Given the description of an element on the screen output the (x, y) to click on. 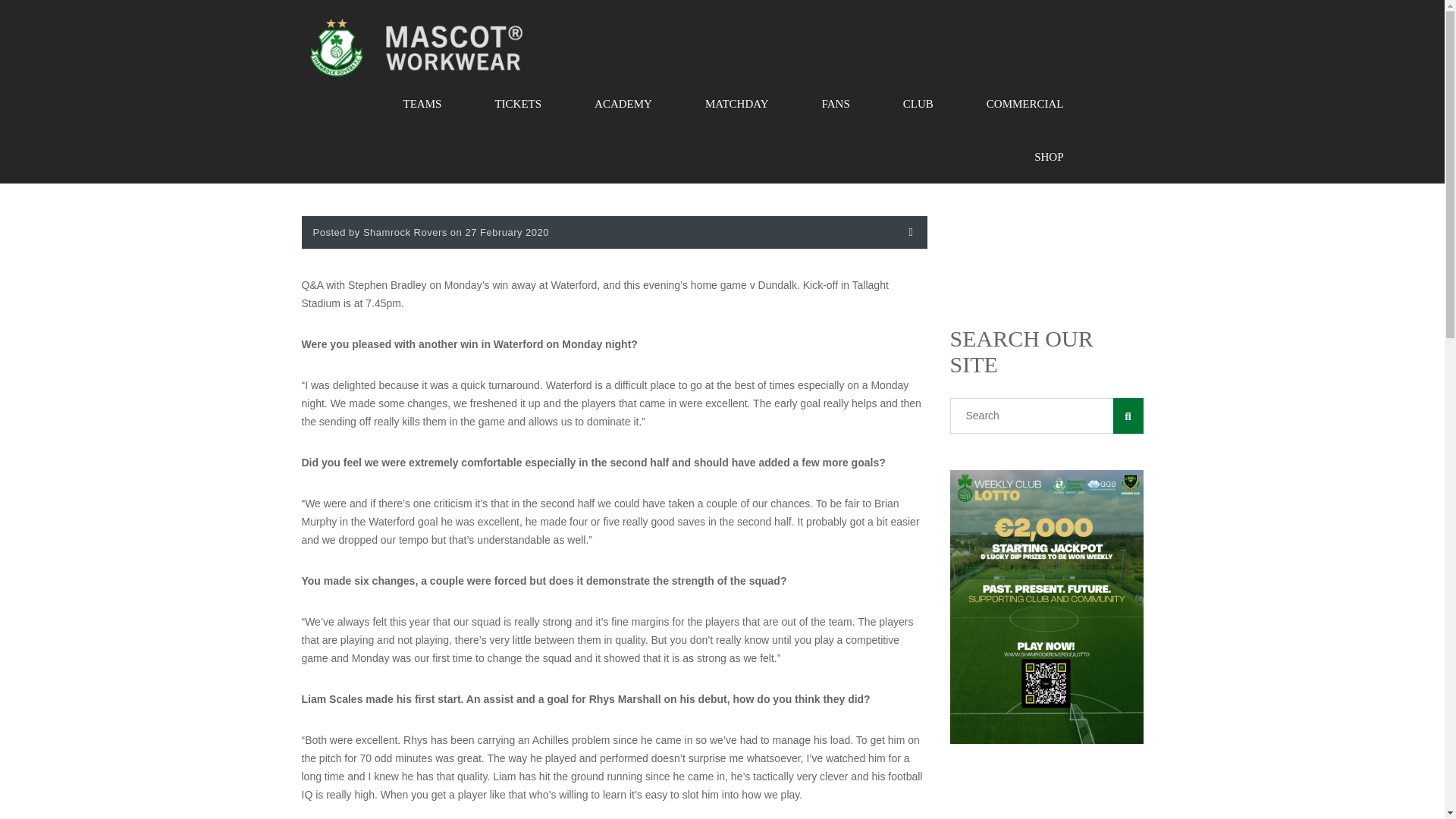
ACADEMY (622, 103)
Home (415, 47)
TICKETS (517, 103)
Submit (337, 618)
TEAMS (422, 103)
